Given the description of an element on the screen output the (x, y) to click on. 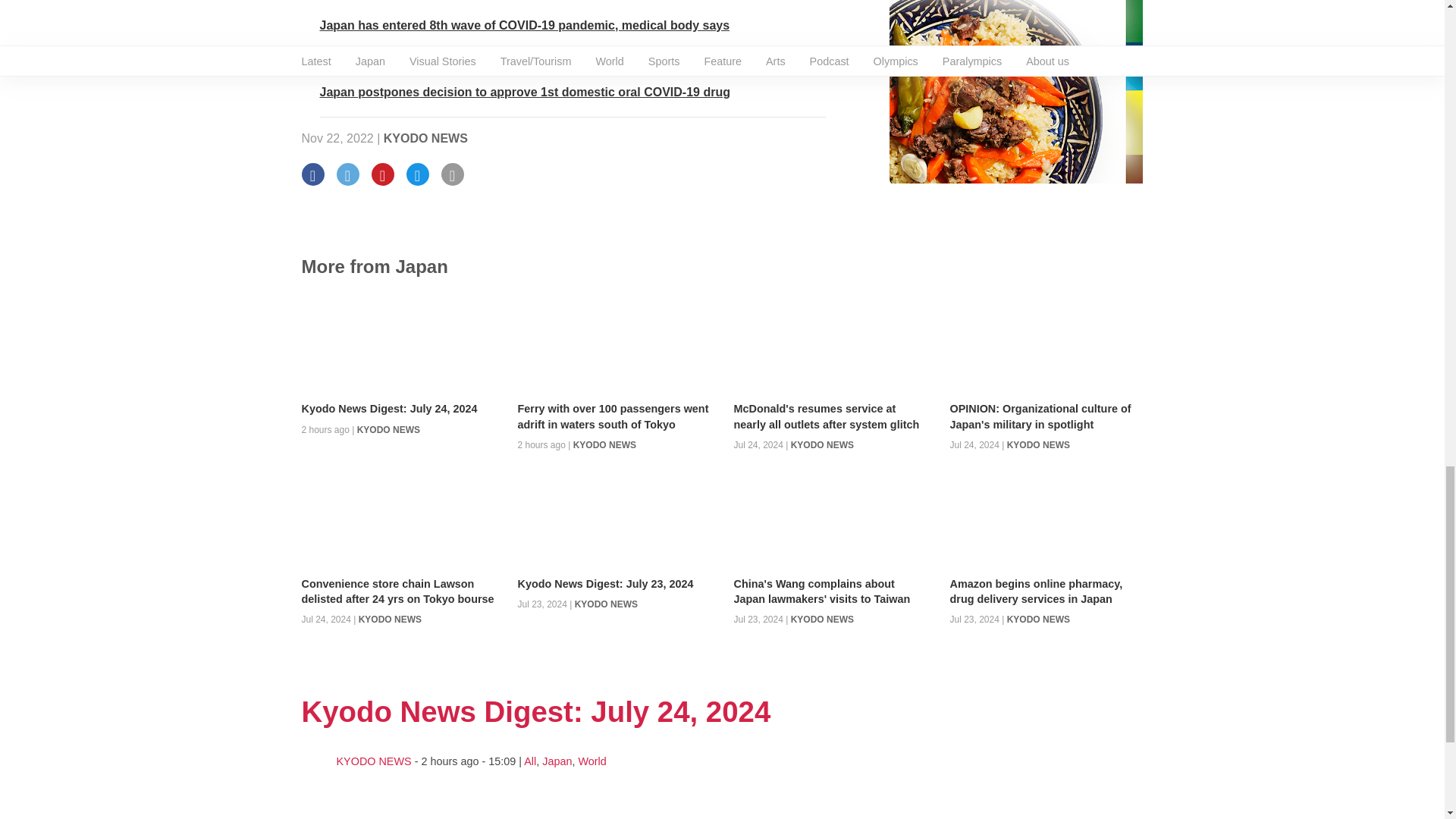
Kyodo News Plus (525, 24)
Kyodo News Plus (528, 58)
Kyodo News Plus (525, 91)
KYODO NEWS (425, 137)
